Given the description of an element on the screen output the (x, y) to click on. 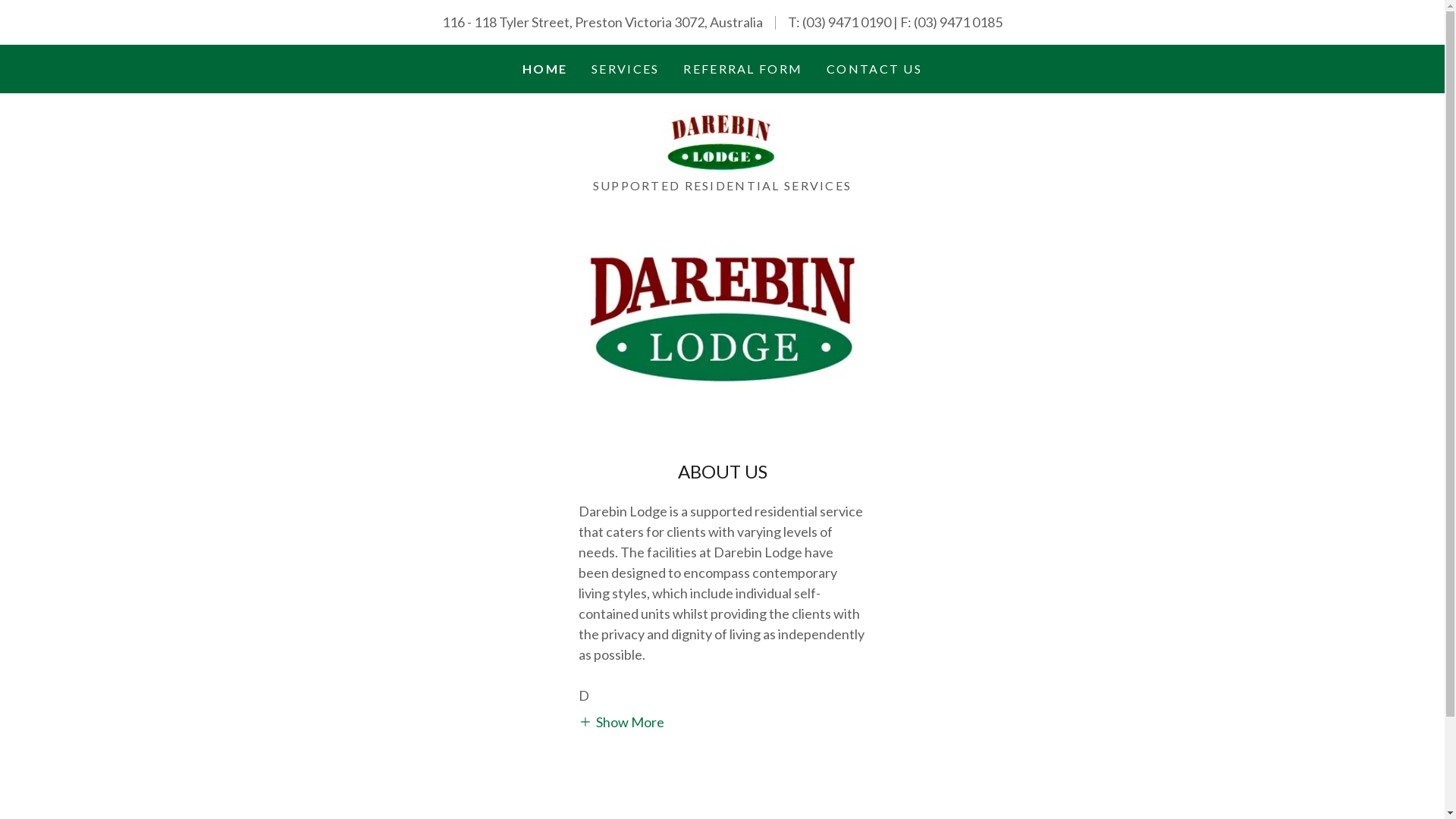
Darebin Lodge Element type: hover (722, 139)
SERVICES Element type: text (624, 68)
CONTACT US Element type: text (874, 68)
Show More Element type: text (621, 721)
(03) 9471 0190 Element type: text (846, 21)
HOME Element type: text (544, 68)
(03) 9471 0185 Element type: text (957, 21)
REFERRAL FORM Element type: text (742, 68)
